Given the description of an element on the screen output the (x, y) to click on. 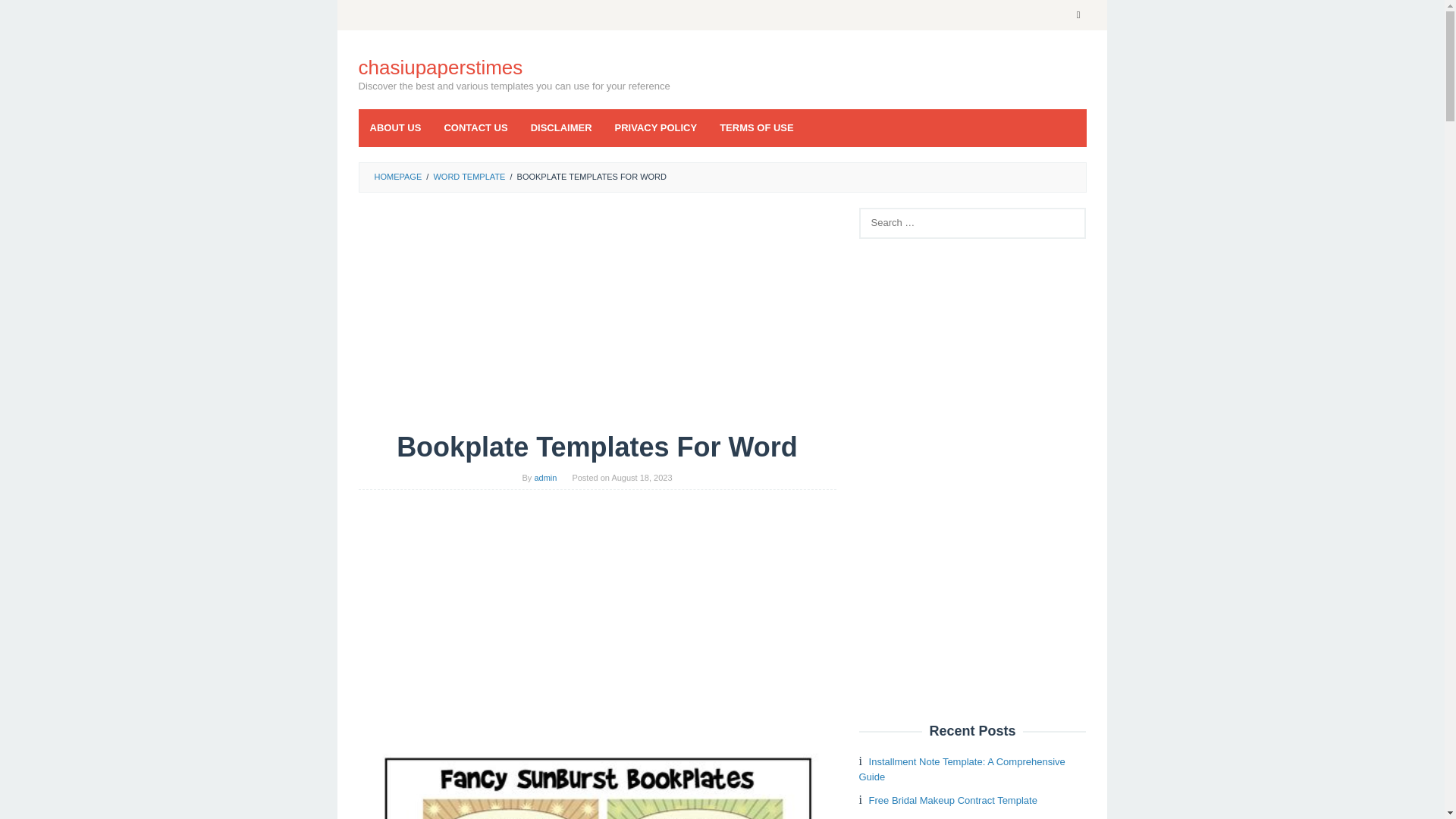
Permalink to: admin (545, 477)
TERMS OF USE (756, 127)
DISCLAIMER (561, 127)
Free Bridal Makeup Contract Template (952, 799)
HOMEPAGE (398, 175)
CONTACT US (475, 127)
WORD TEMPLATE (468, 175)
ABOUT US (395, 127)
PRIVACY POLICY (656, 127)
chasiupaperstimes (440, 67)
Advertisement (596, 319)
admin (545, 477)
Installment Note Template: A Comprehensive Guide (961, 768)
Bookplate Templates For Word (596, 774)
